Given the description of an element on the screen output the (x, y) to click on. 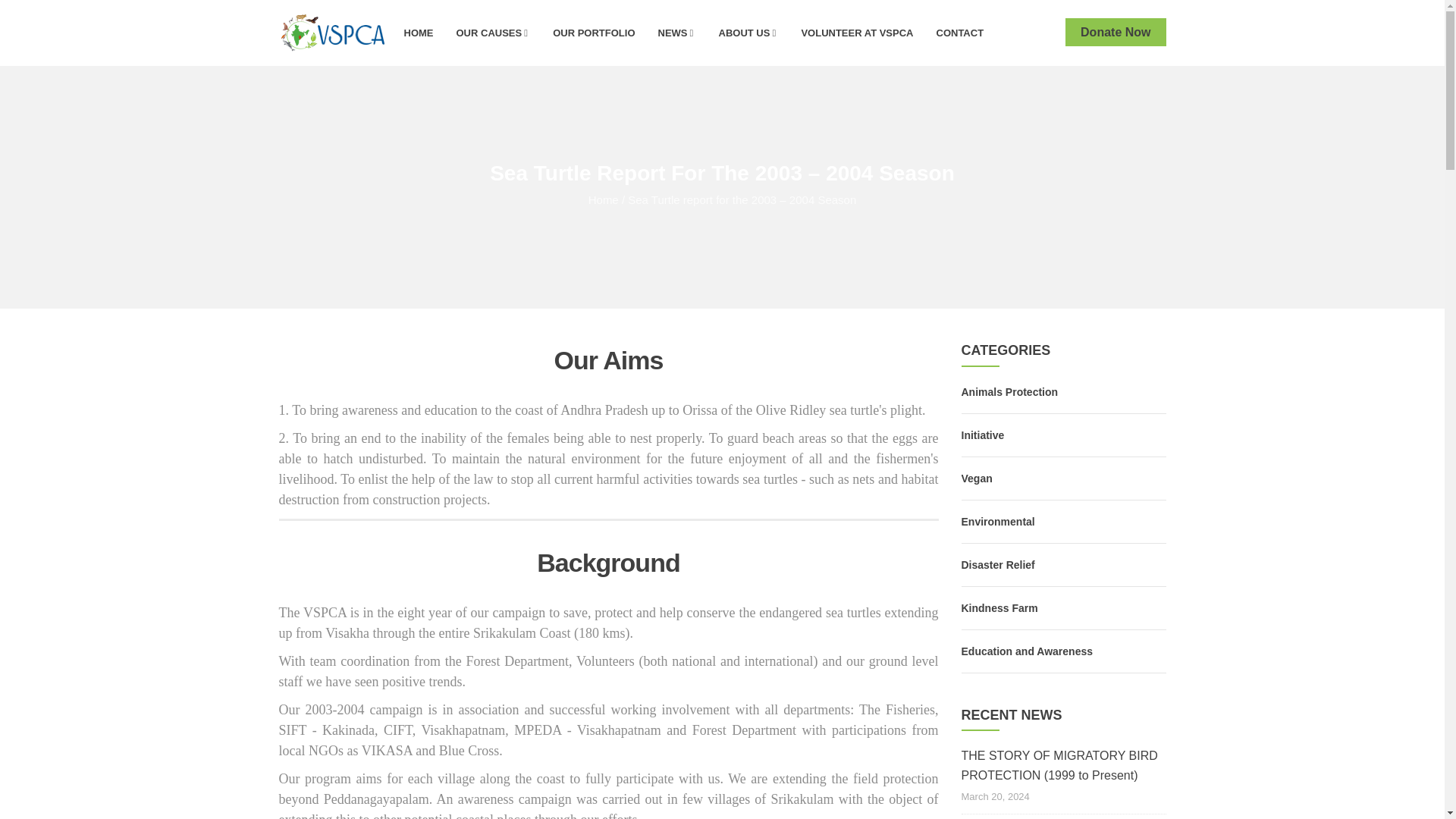
NEWS (676, 32)
OUR CAUSES (492, 32)
HOME (419, 32)
OUR PORTFOLIO (593, 32)
